Given the description of an element on the screen output the (x, y) to click on. 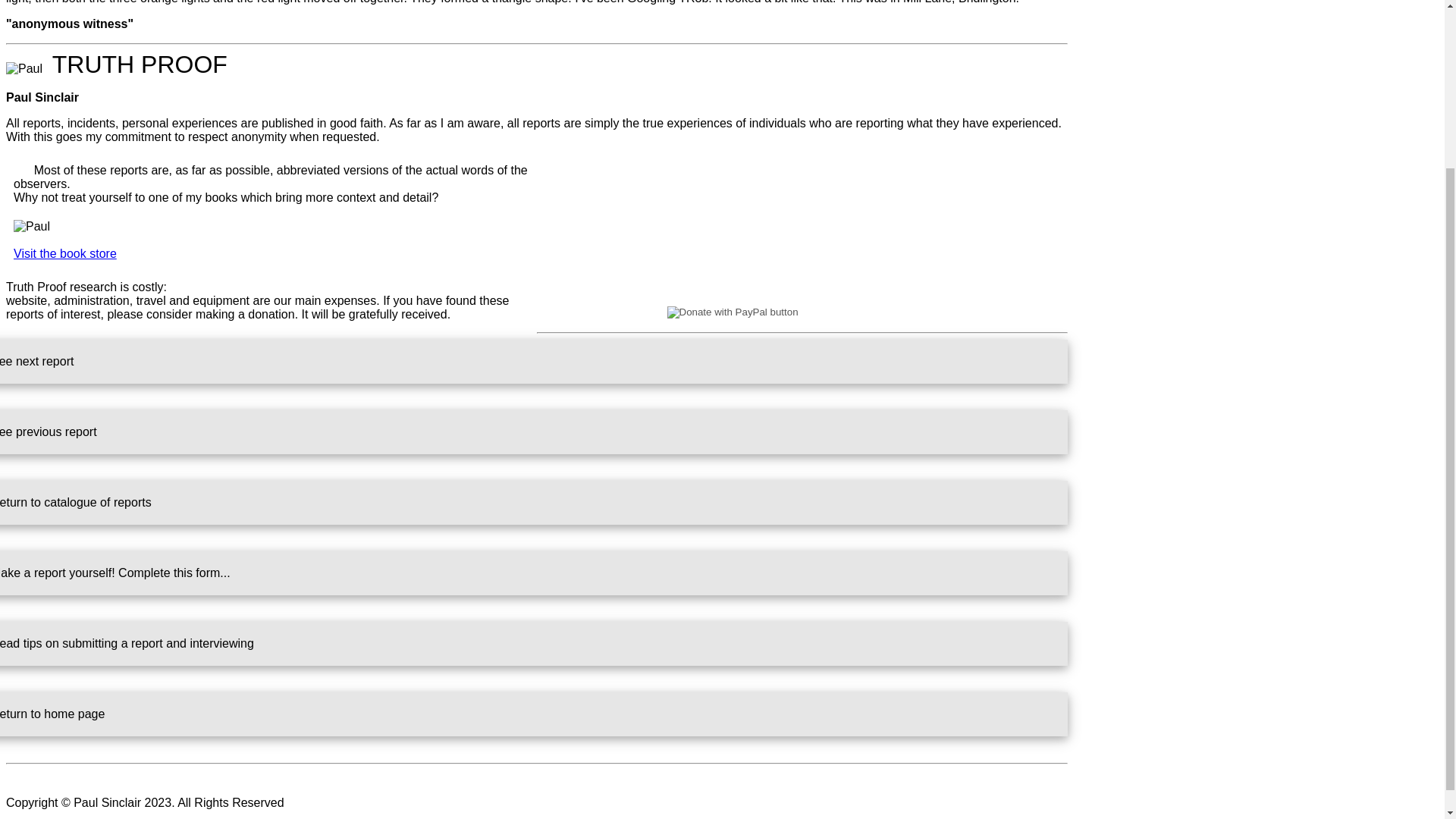
See next report (533, 361)
Return to home page (533, 714)
Make a report yourself! Complete this form... (533, 573)
Read tips on submitting a report and interviewing (533, 643)
Return to catalogue of reports (533, 502)
PayPal - The safer, easier way to pay online! (801, 312)
Visit the book store (64, 253)
See previous report (533, 432)
